Given the description of an element on the screen output the (x, y) to click on. 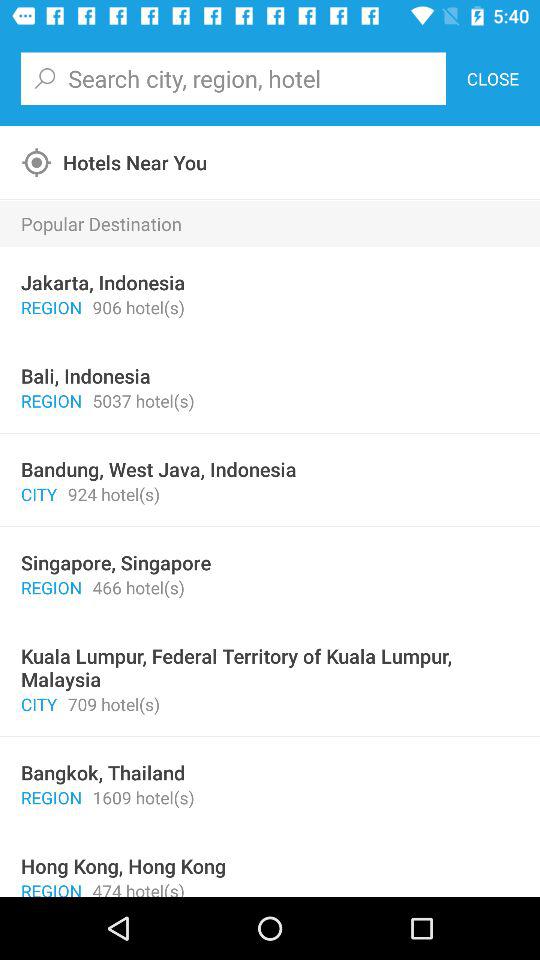
tap the item to the left of close icon (233, 78)
